Given the description of an element on the screen output the (x, y) to click on. 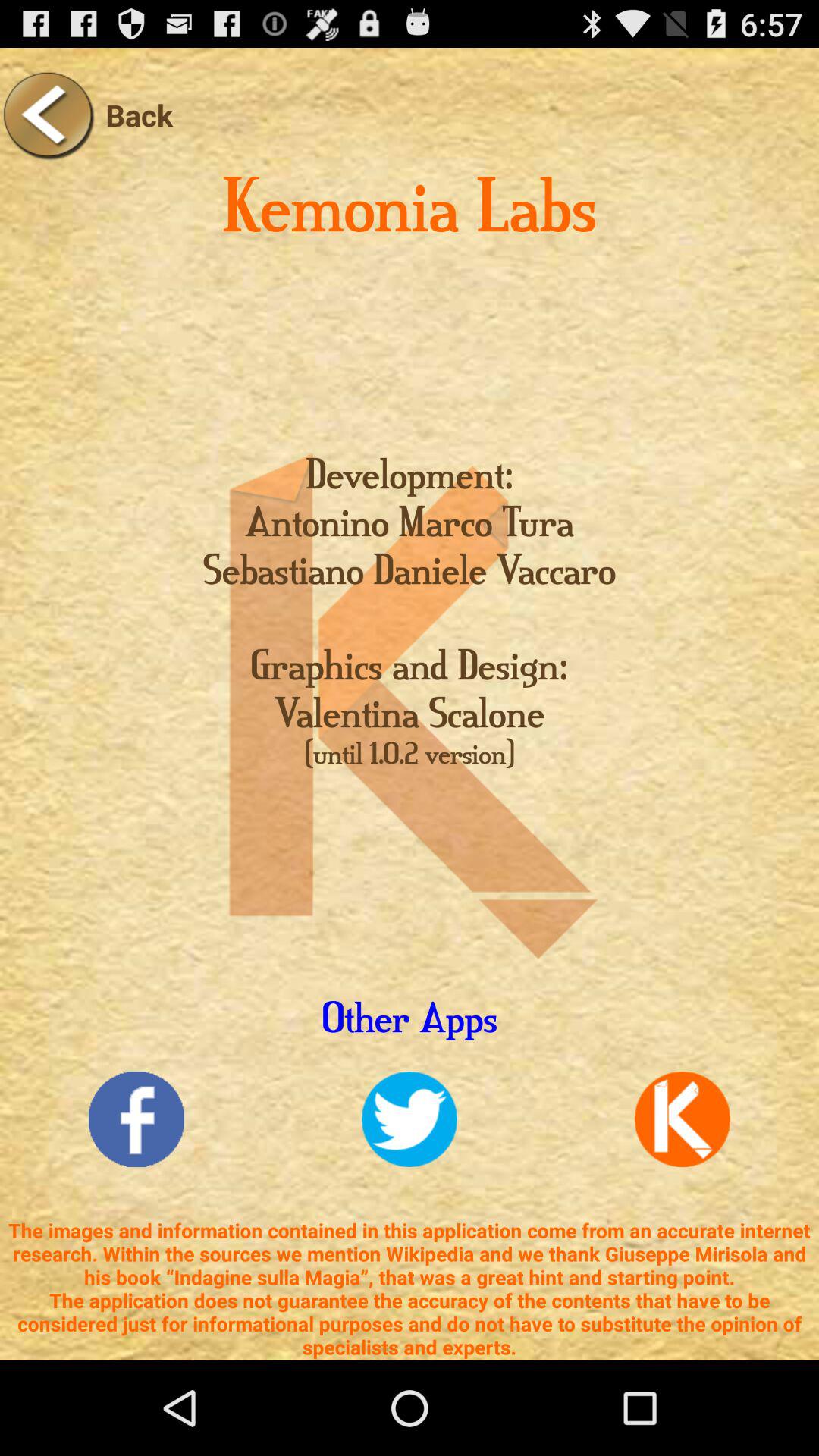
twitter icon (409, 1119)
